Given the description of an element on the screen output the (x, y) to click on. 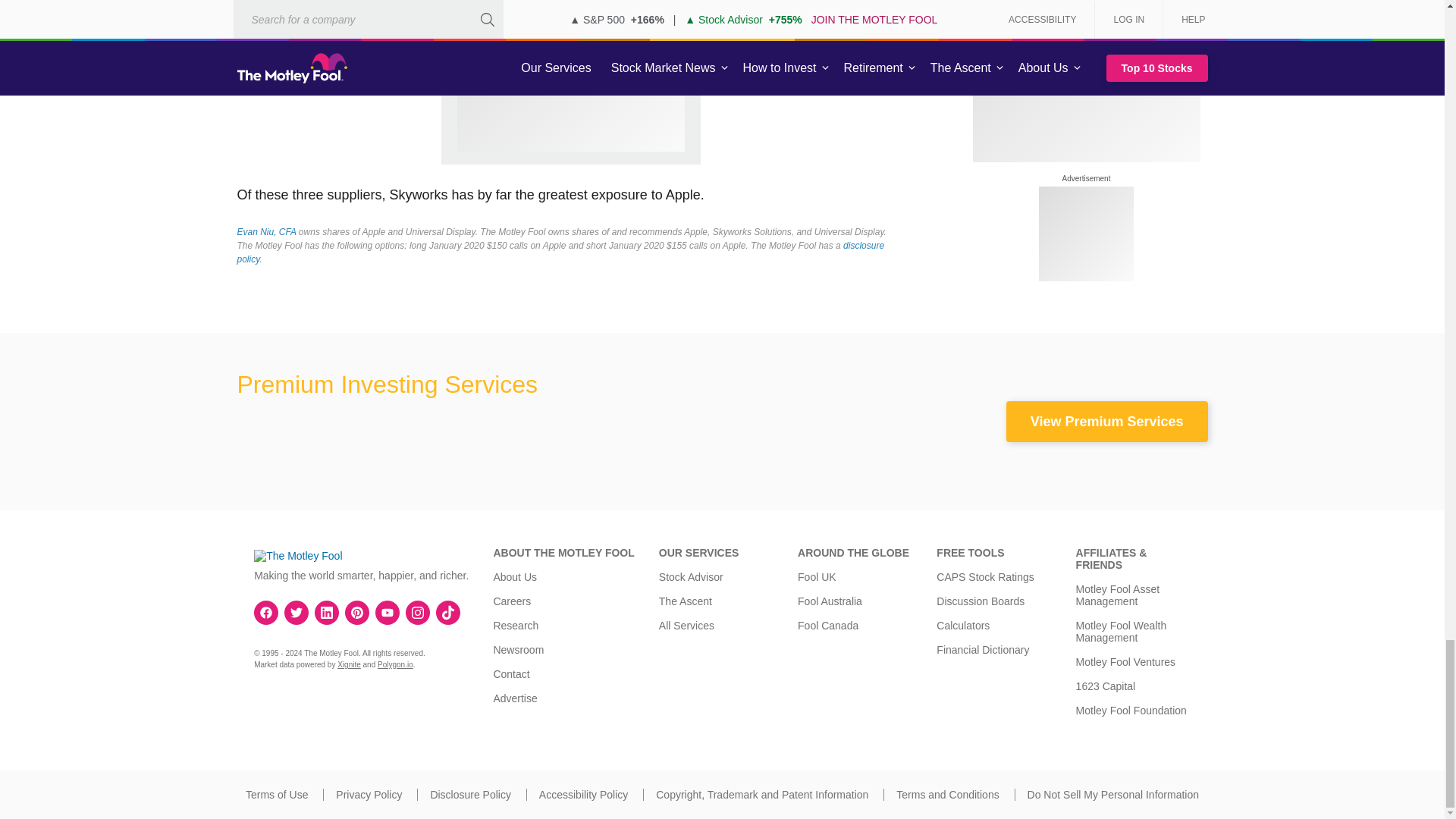
Copyright, Trademark and Patent Information (761, 794)
Terms and Conditions (947, 794)
Disclosure Policy (470, 794)
Accessibility Policy (582, 794)
Privacy Policy (368, 794)
Do Not Sell My Personal Information. (1112, 794)
Terms of Use (276, 794)
